Given the description of an element on the screen output the (x, y) to click on. 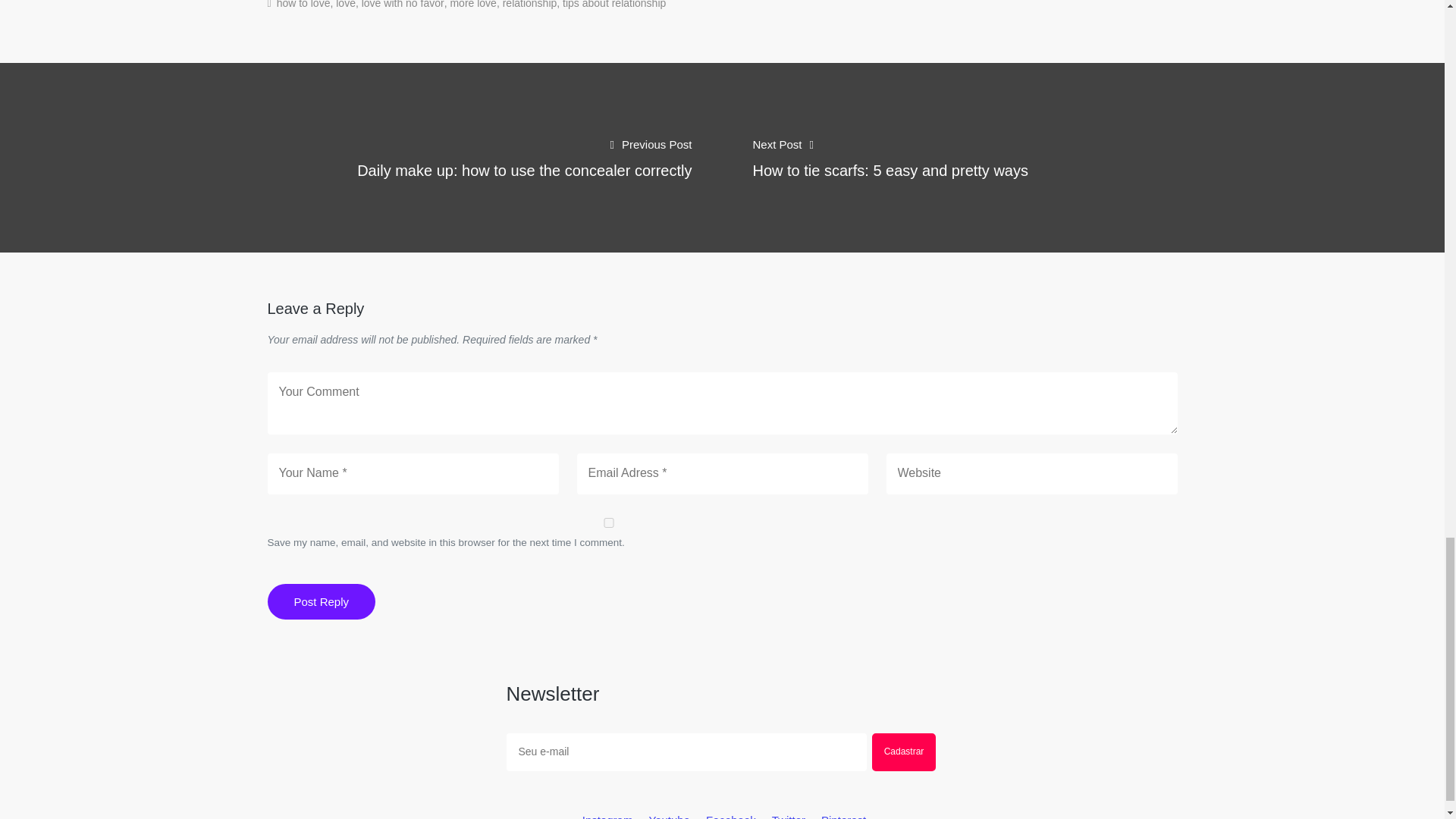
Post Reply (320, 601)
Cadastrar (904, 752)
how to love (303, 4)
tips about relationship (613, 4)
more love (472, 4)
yes (607, 522)
love with no favor (402, 4)
love (345, 4)
relationship (529, 4)
